Given the description of an element on the screen output the (x, y) to click on. 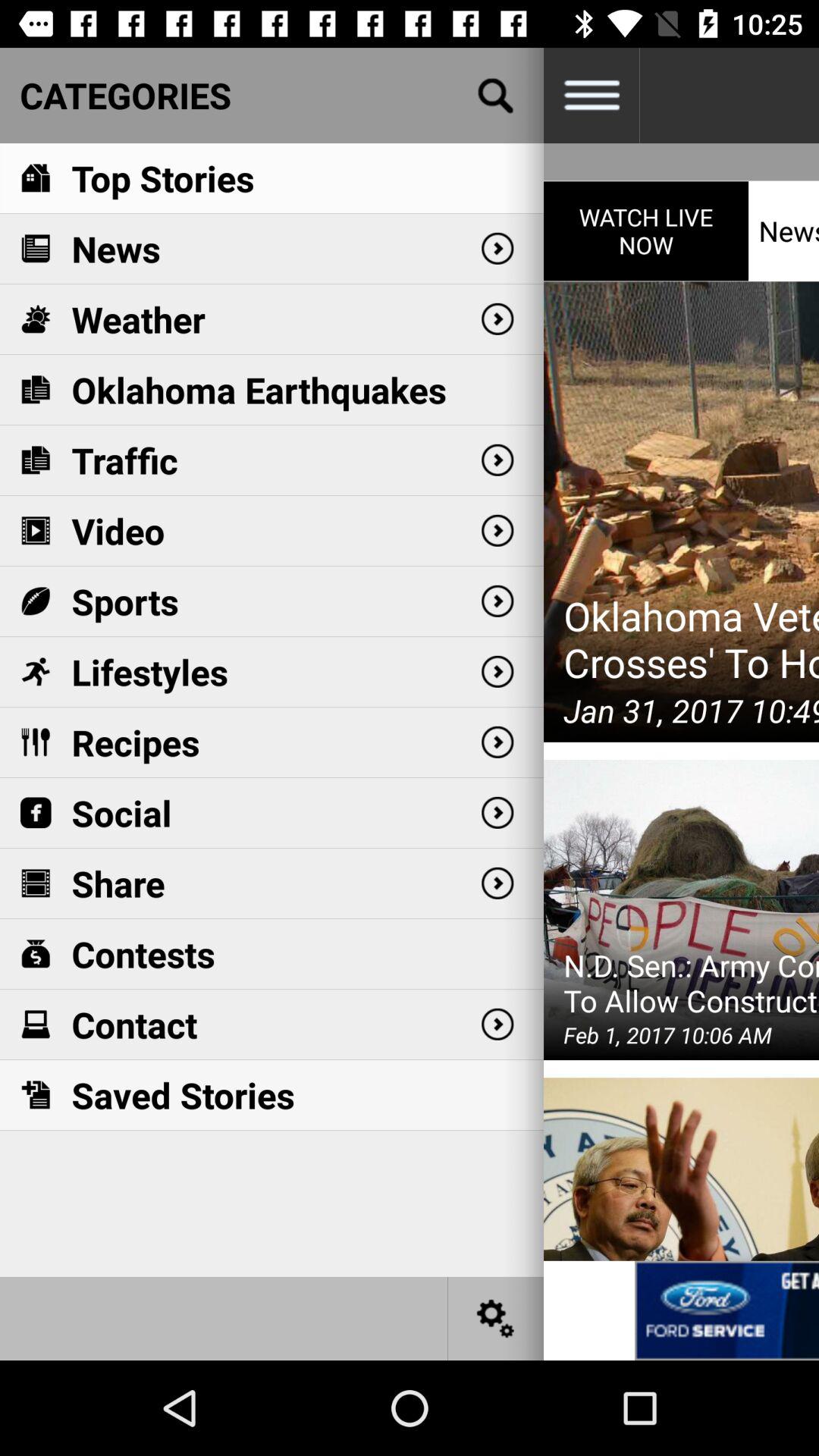
select the image for more information tab to open the article (726, 1310)
